Given the description of an element on the screen output the (x, y) to click on. 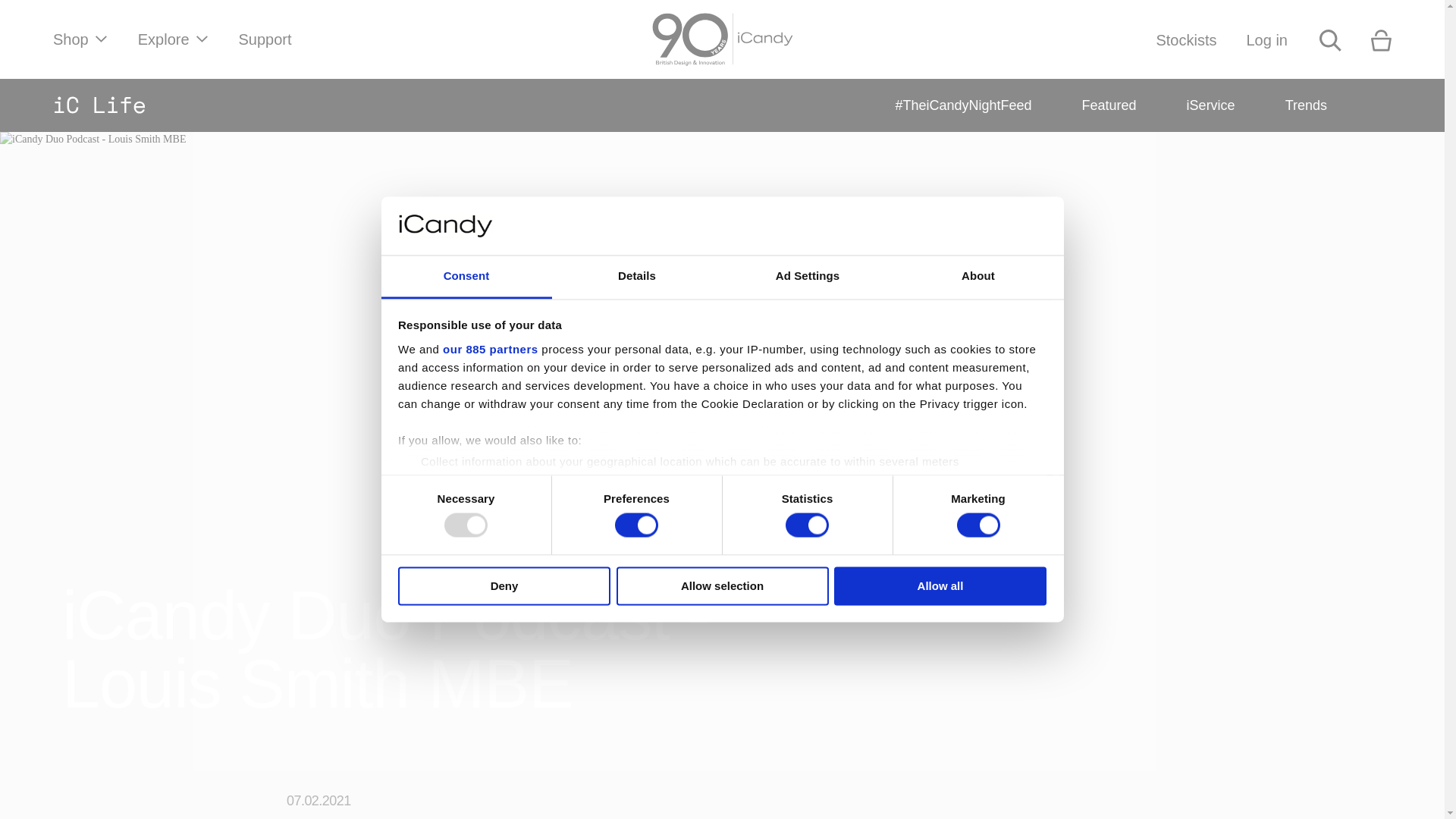
our 885 partners (490, 349)
About (978, 276)
Consent (465, 276)
details section (927, 500)
Ad Settings (807, 276)
Details (636, 276)
